Given the description of an element on the screen output the (x, y) to click on. 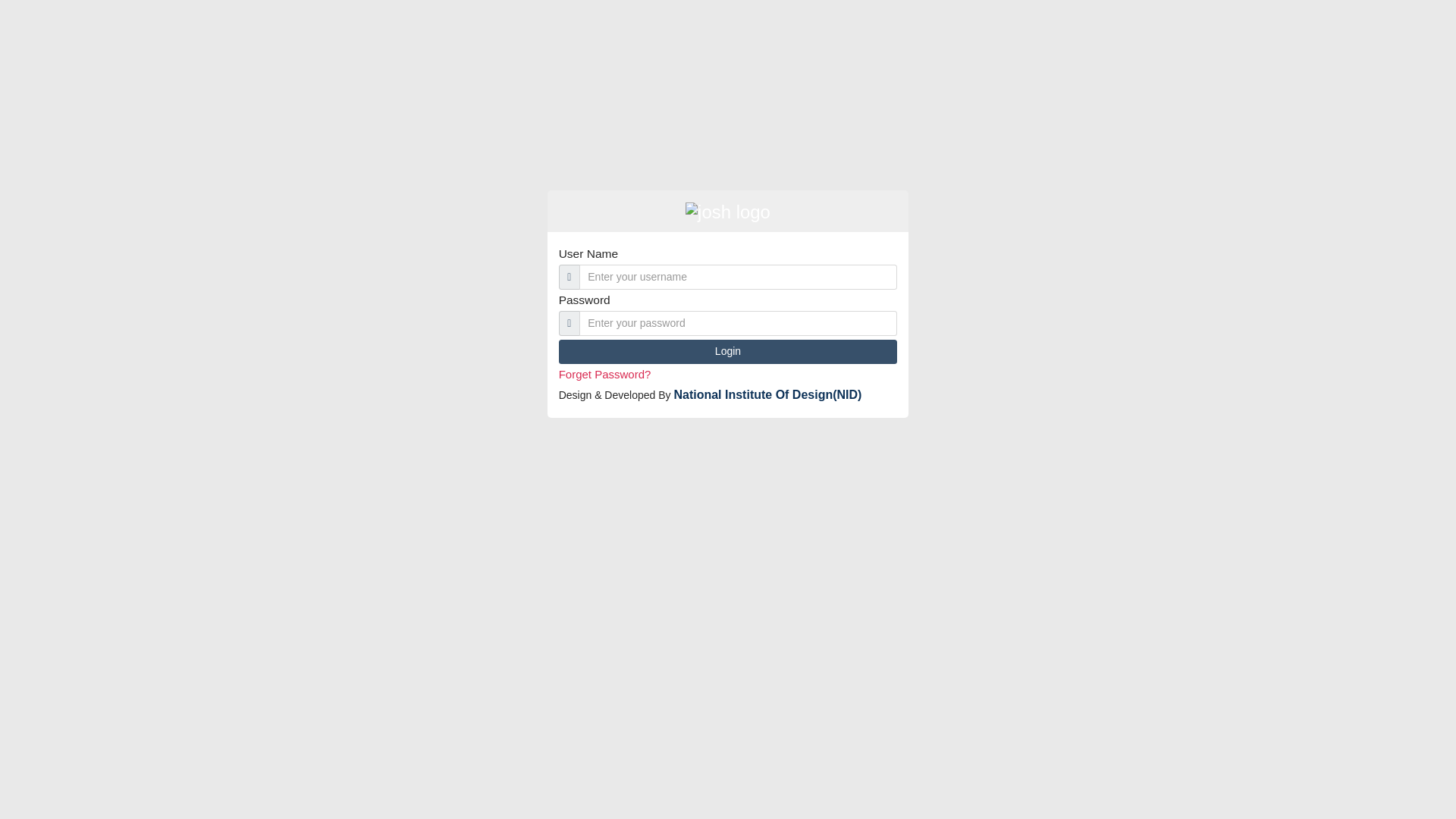
National Institute Of Design(NID) Element type: text (767, 394)
Forget Password? Element type: text (604, 373)
Login Element type: text (727, 351)
